Given the description of an element on the screen output the (x, y) to click on. 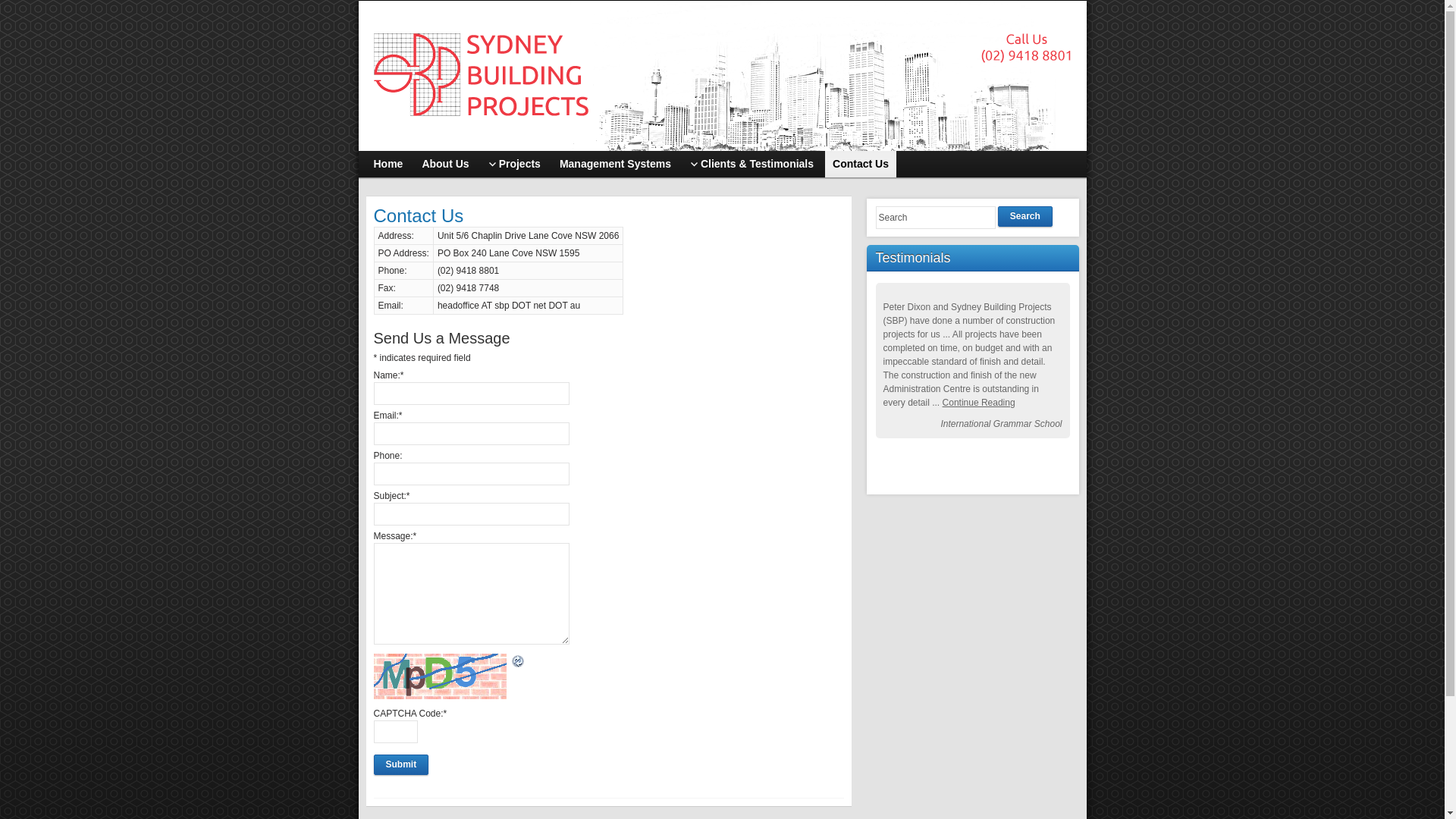
Home Element type: text (387, 163)
Management Systems Element type: text (615, 163)
Submit Element type: text (400, 764)
Continue Reading Element type: text (978, 402)
CAPTCHA Element type: hover (441, 676)
Search Element type: text (1024, 216)
Clients & Testimonials Element type: text (751, 163)
Projects Element type: text (514, 163)
Refresh Element type: hover (517, 661)
Contact Us Element type: text (860, 163)
About Us Element type: text (445, 163)
